Given the description of an element on the screen output the (x, y) to click on. 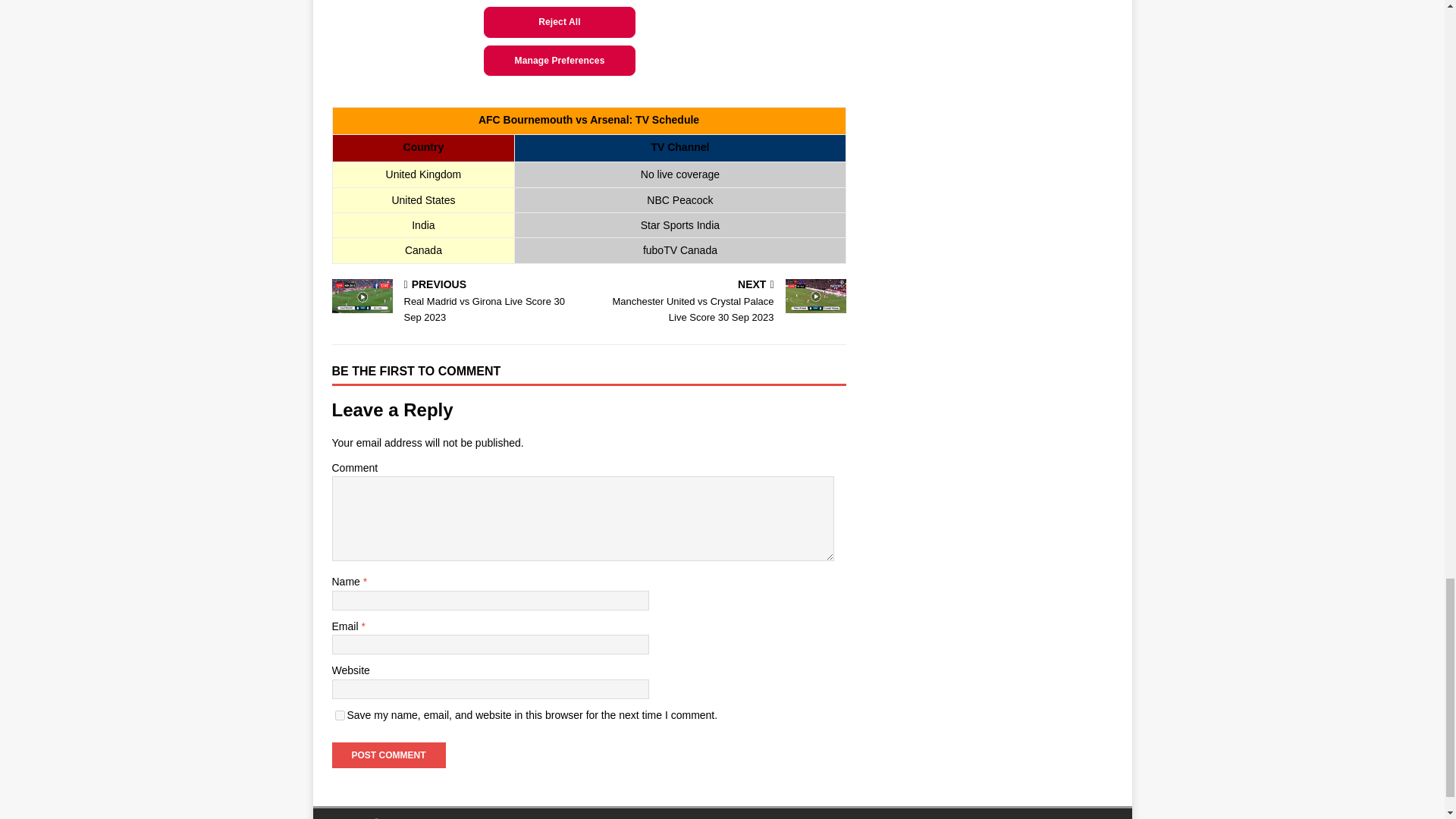
yes (339, 715)
Post Comment (388, 755)
Post Comment (457, 302)
